Given the description of an element on the screen output the (x, y) to click on. 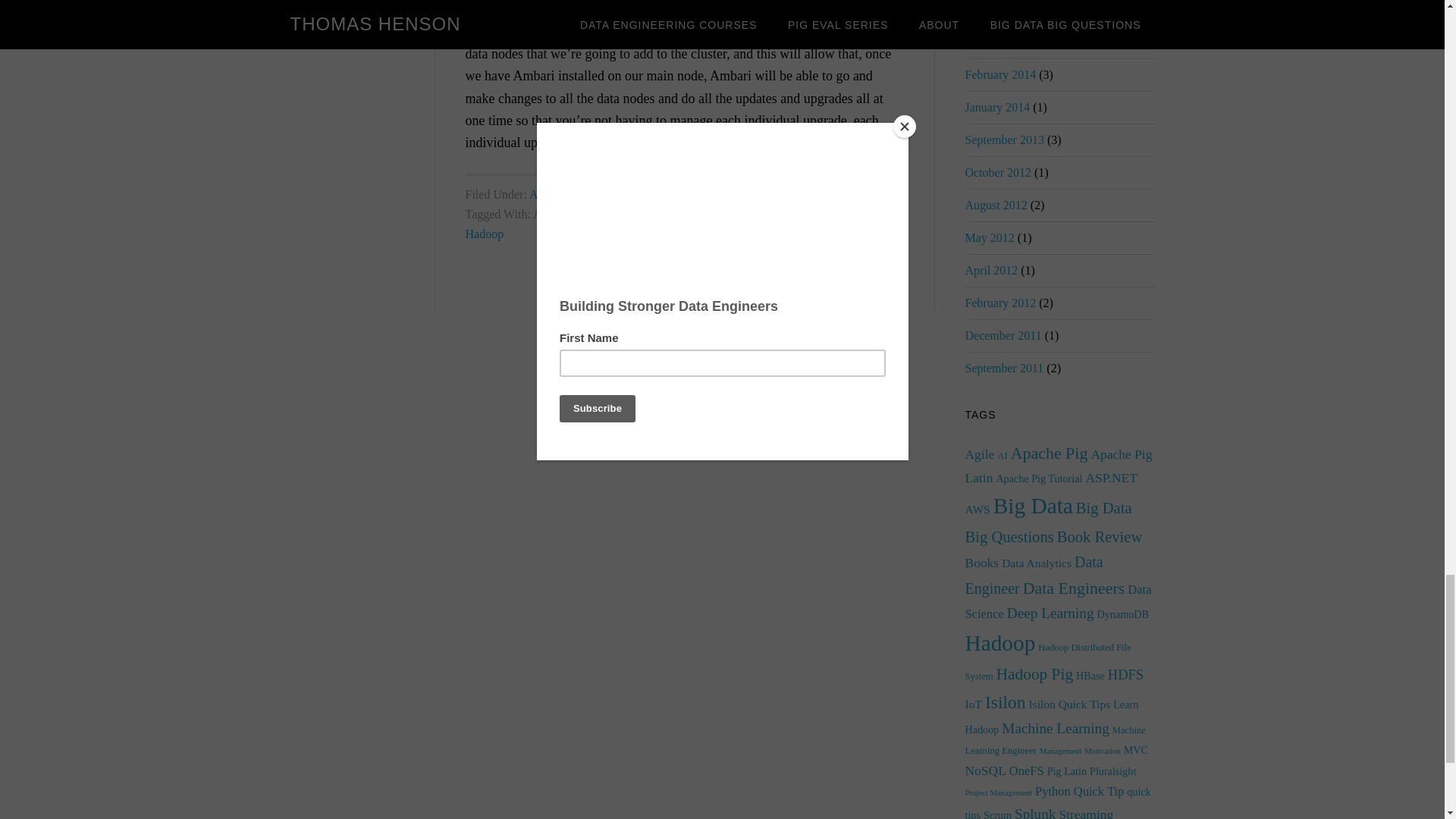
Learn Hadoop (673, 224)
Ambari (547, 194)
Hadoop (595, 214)
Hadoop Distributed File System (699, 214)
Ambari (551, 214)
Hortonworks (815, 214)
